Given the description of an element on the screen output the (x, y) to click on. 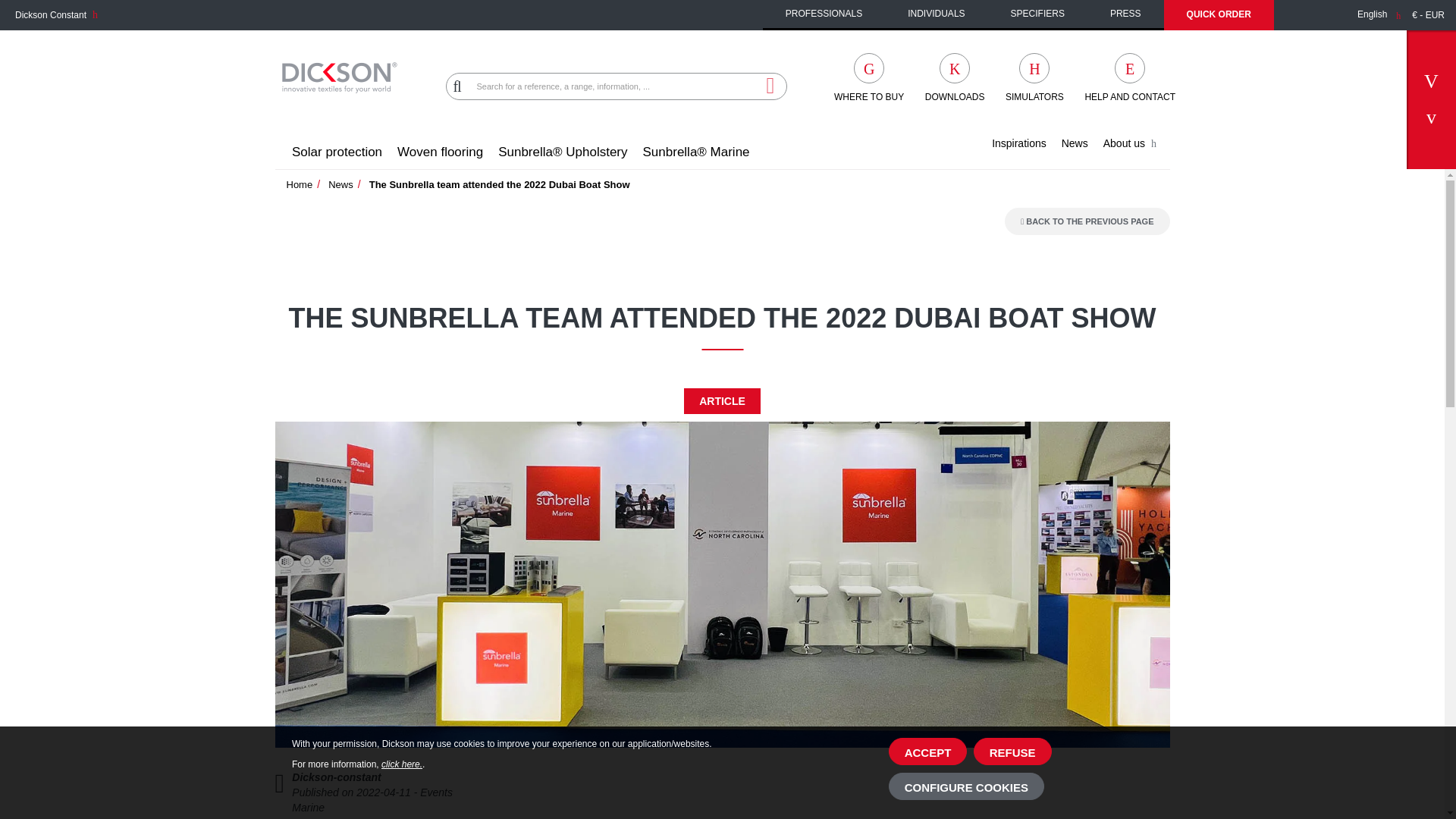
CONFIGURE COOKIES (965, 786)
REFUSE (1012, 750)
ACCEPT (928, 750)
click here. (401, 764)
